Given the description of an element on the screen output the (x, y) to click on. 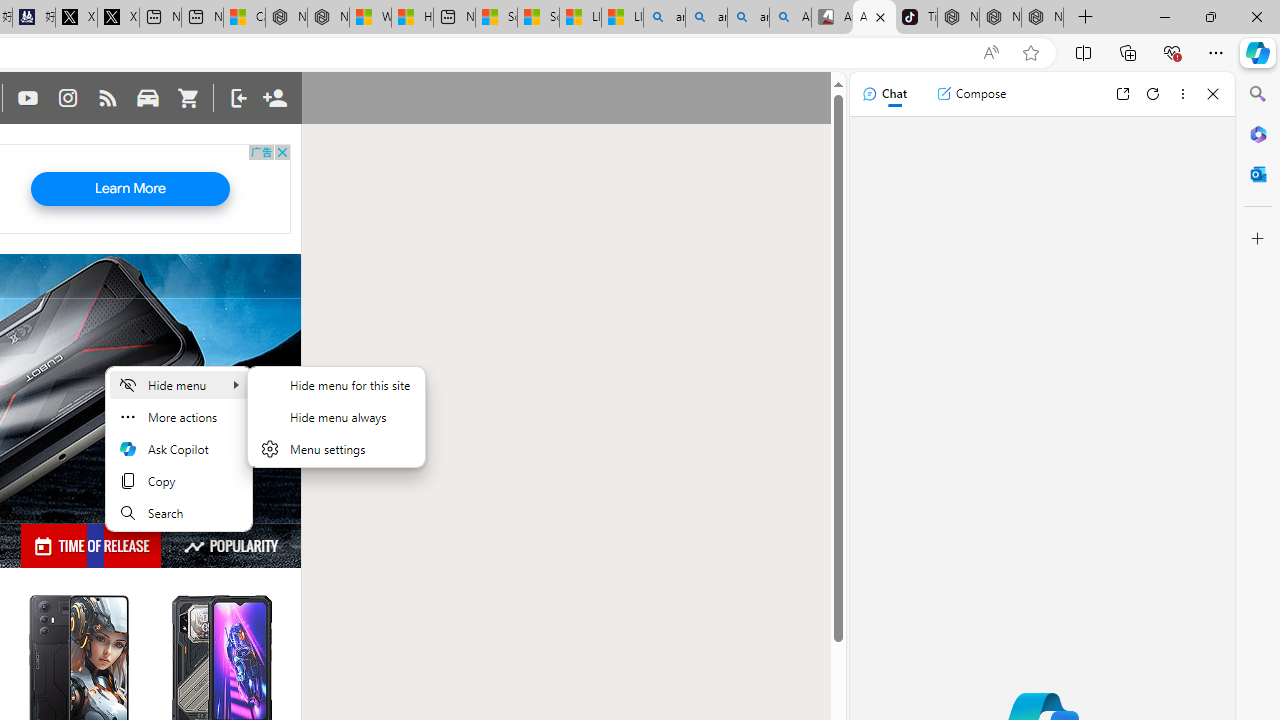
Hide menu (336, 417)
